Given the description of an element on the screen output the (x, y) to click on. 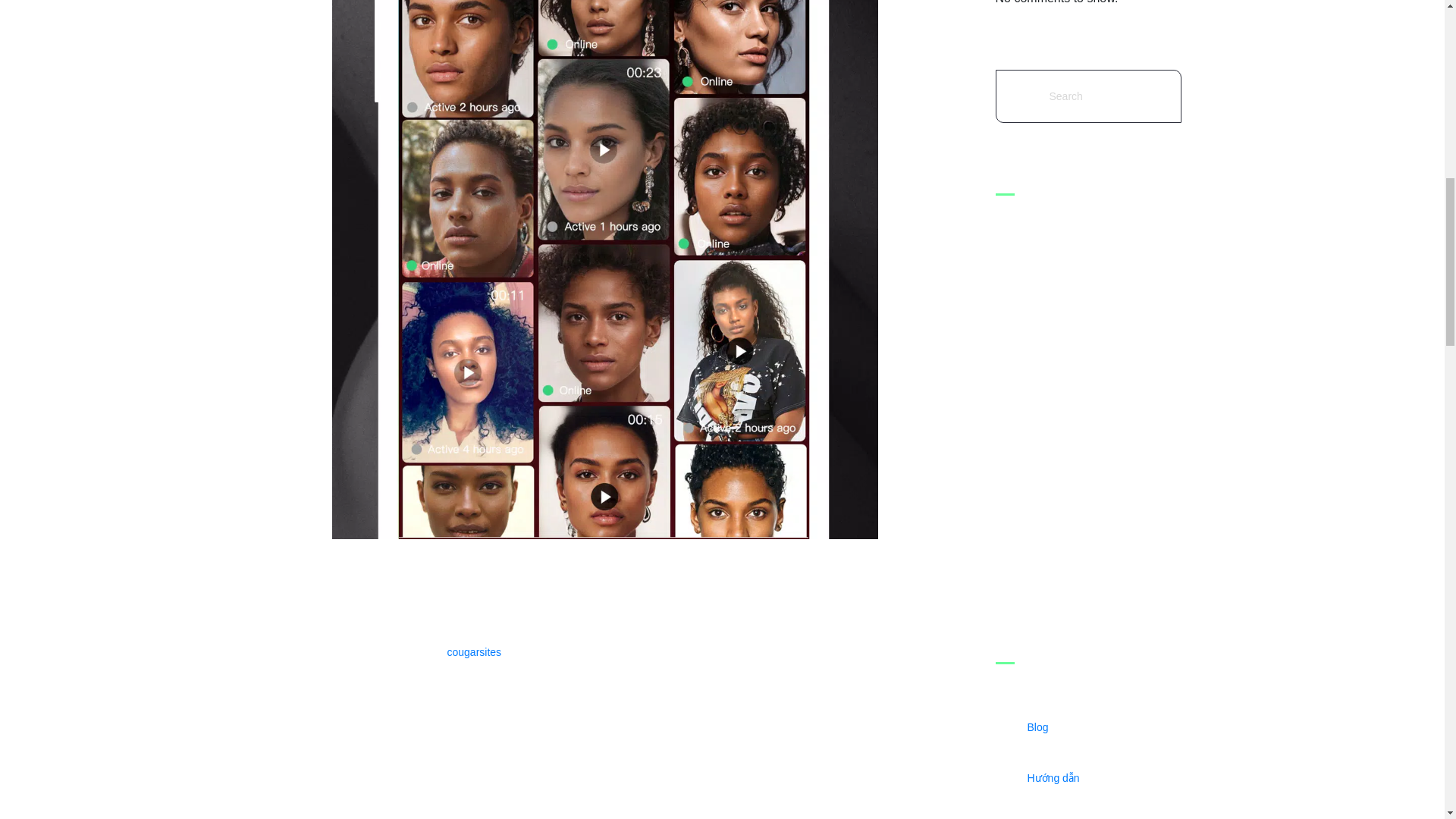
Tiki Vikings Genuine (1095, 258)
On-line poker Internet sites (1095, 474)
cougarsites (474, 652)
British Casino (1095, 423)
